Given the description of an element on the screen output the (x, y) to click on. 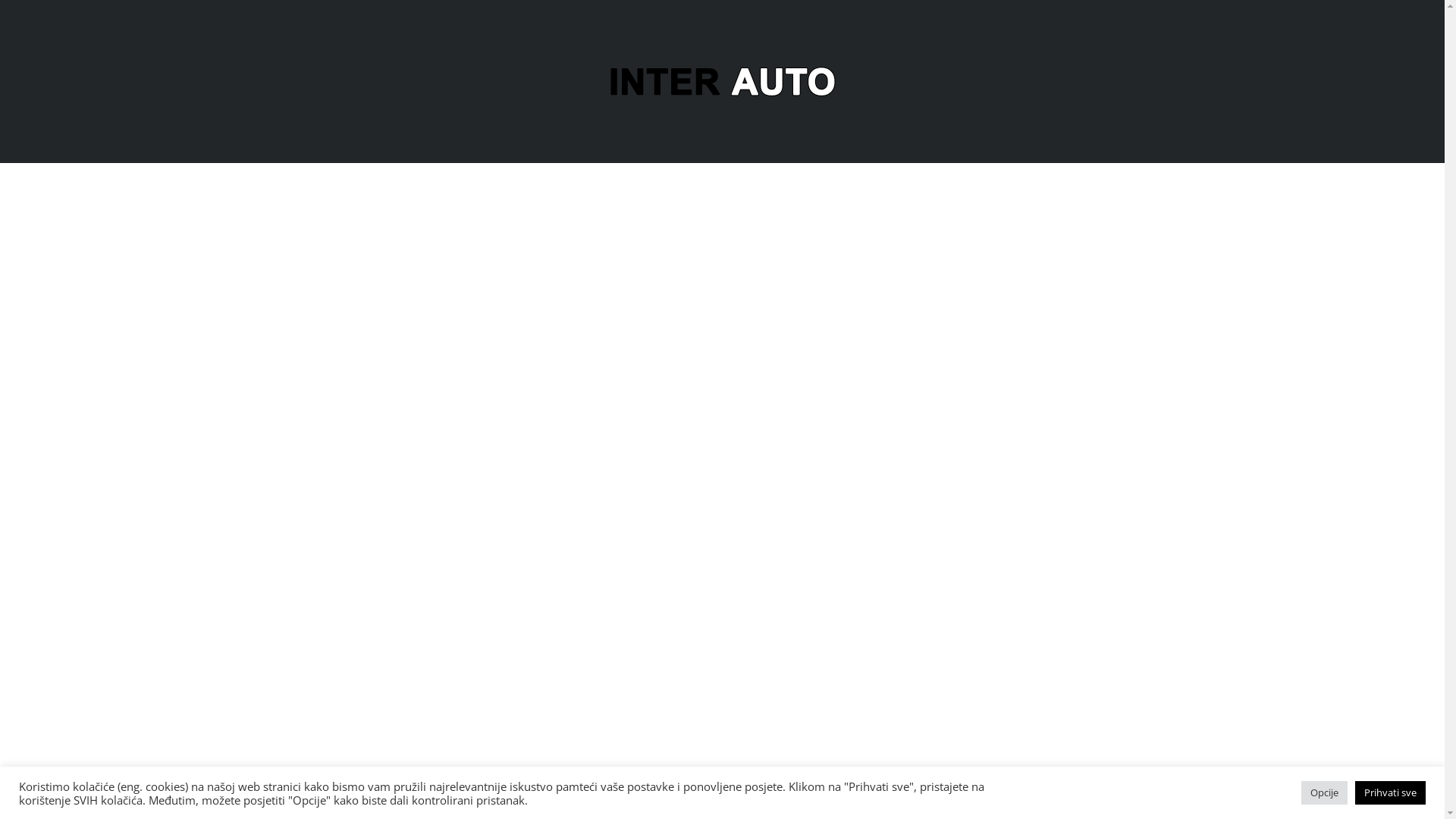
Prihvati sve Element type: text (1390, 792)
Home Element type: hover (721, 79)
Opcije Element type: text (1324, 792)
